Given the description of an element on the screen output the (x, y) to click on. 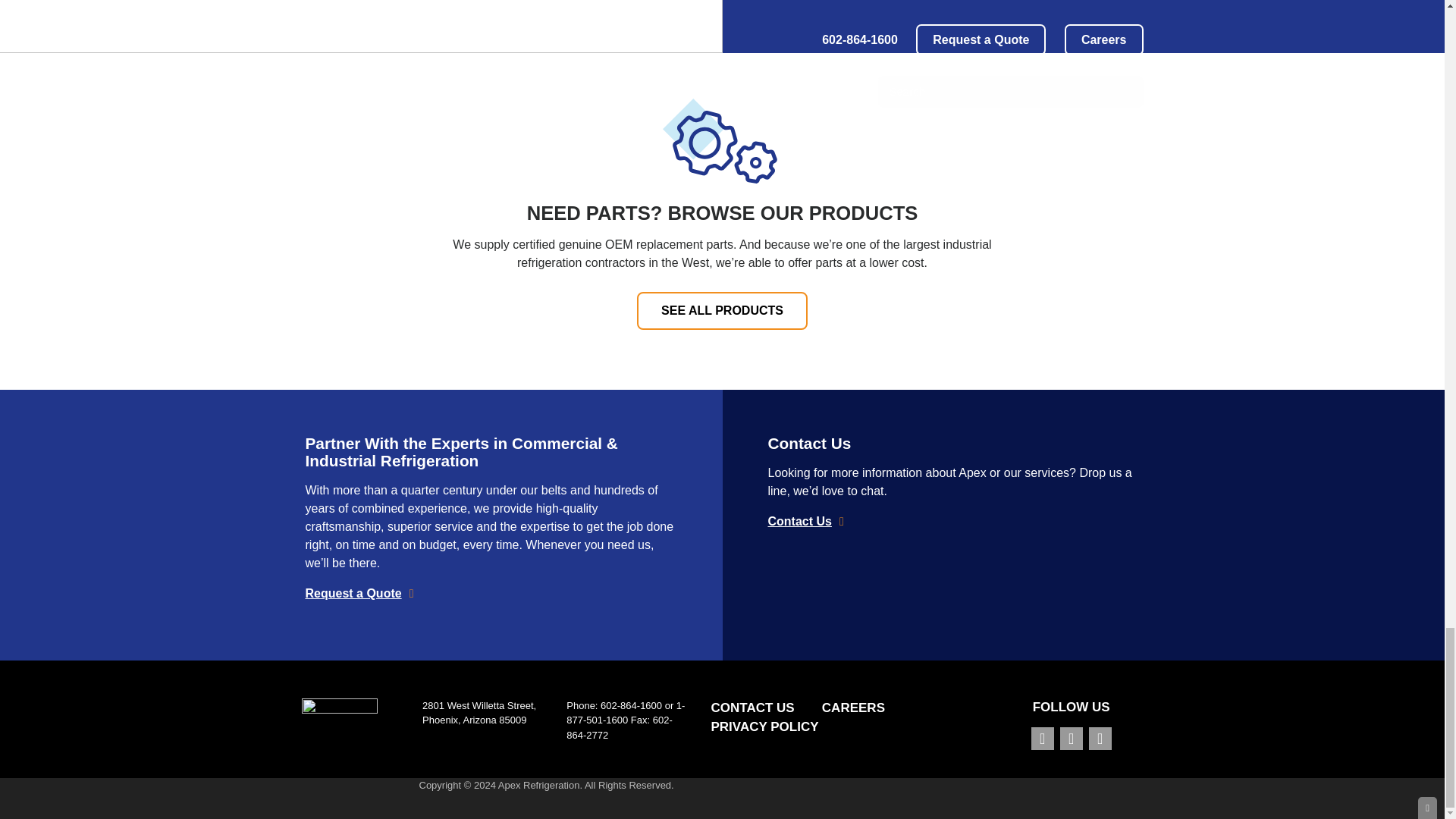
Opens in new tab (1042, 738)
Opens in new tab (1071, 738)
LinkedIn (1099, 738)
Opens in new tab (1100, 738)
Facebook (1042, 738)
Twitter (1071, 738)
